Given the description of an element on the screen output the (x, y) to click on. 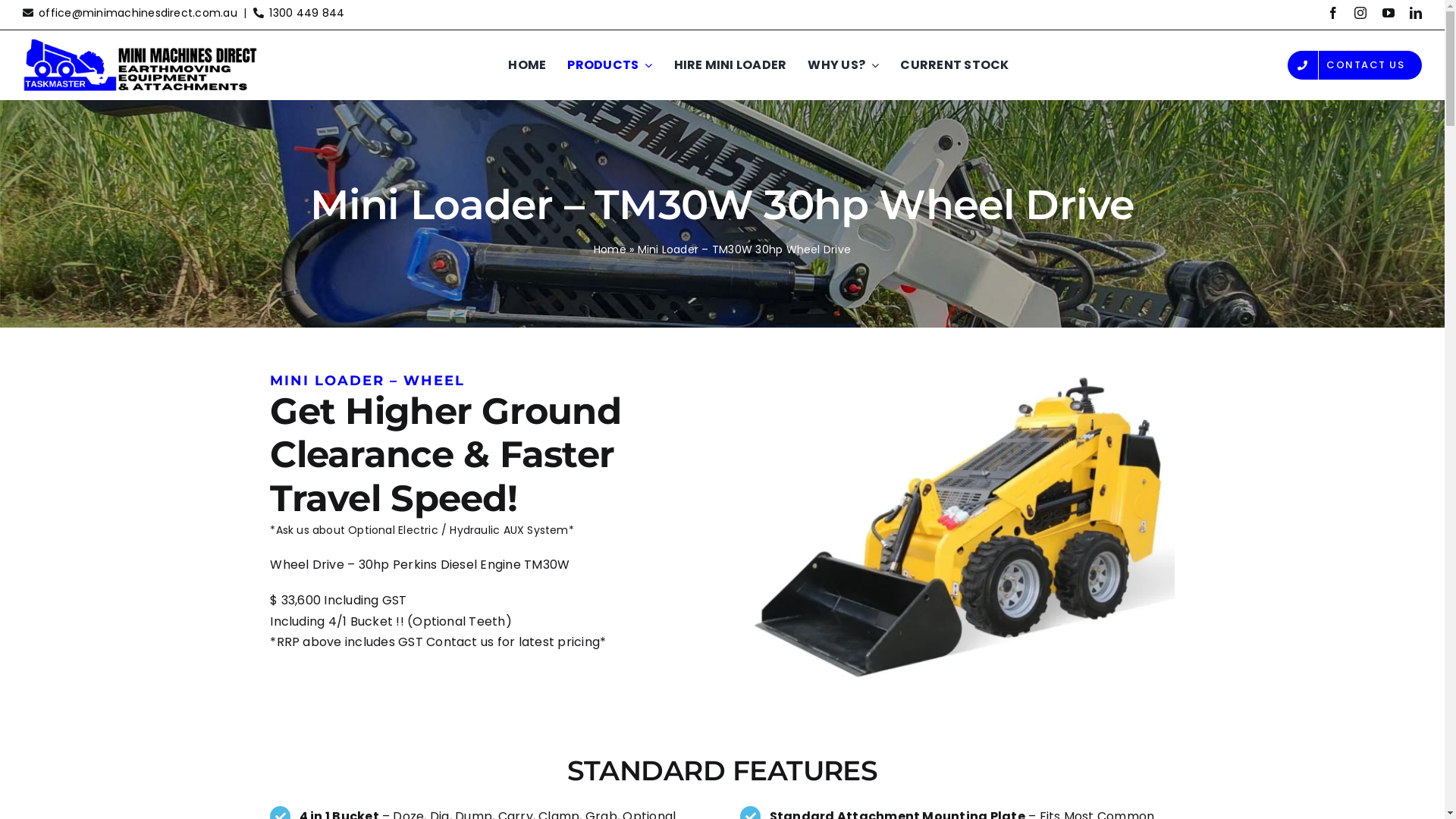
Home Element type: text (609, 249)
1300 449 844 Element type: text (306, 12)
HOME Element type: text (527, 64)
PRODUCTS Element type: text (609, 64)
CONTACT US Element type: text (1354, 64)
HIRE MINI LOADER Element type: text (730, 64)
office@minimachinesdirect.com.au Element type: text (137, 12)
WHY US? Element type: text (842, 64)
CURRENT STOCK Element type: text (954, 64)
